Given the description of an element on the screen output the (x, y) to click on. 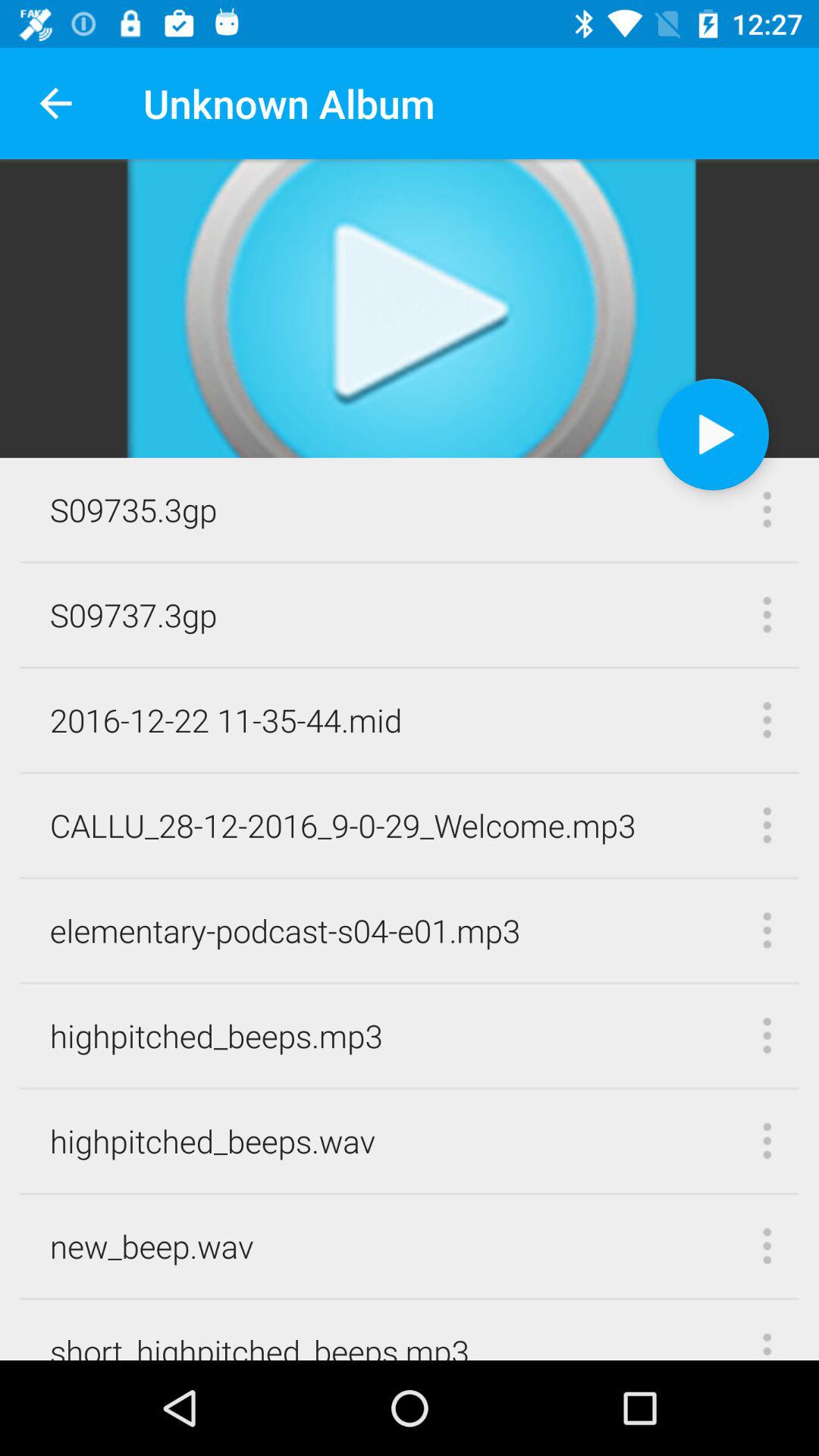
play button (712, 434)
